Given the description of an element on the screen output the (x, y) to click on. 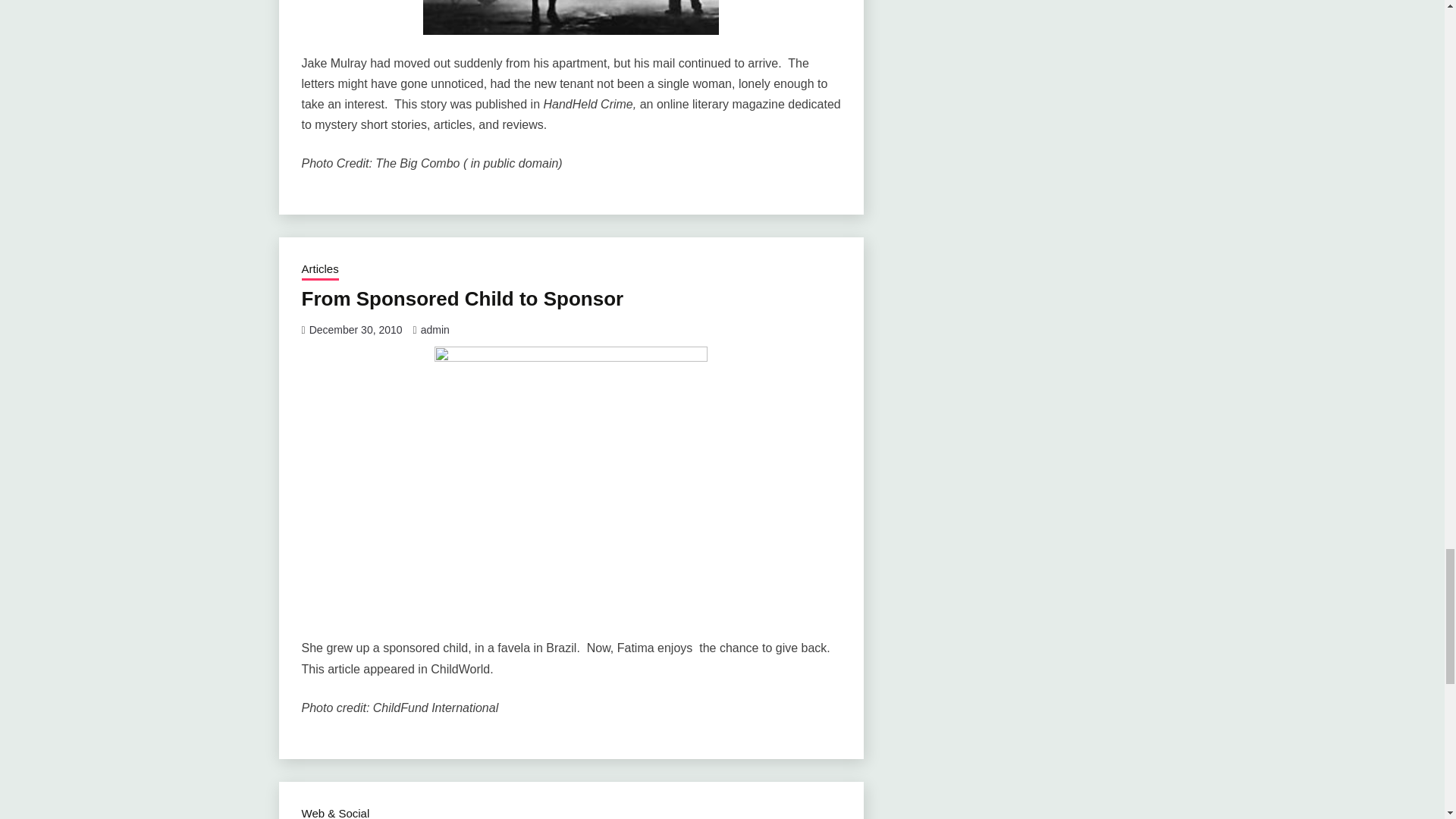
child 2 (570, 482)
Leap photo (571, 17)
